Given the description of an element on the screen output the (x, y) to click on. 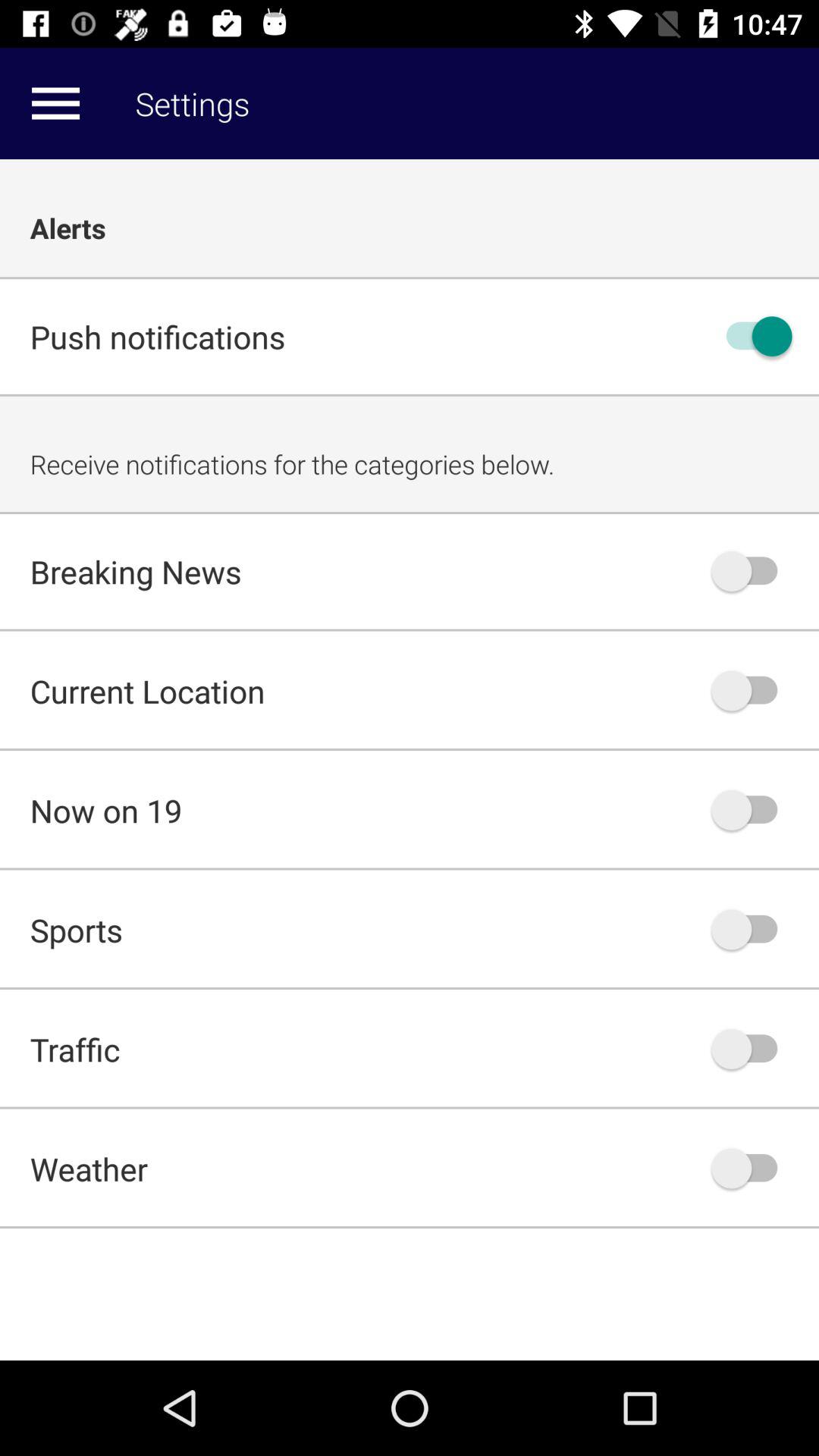
toggle on/off button (751, 810)
